Given the description of an element on the screen output the (x, y) to click on. 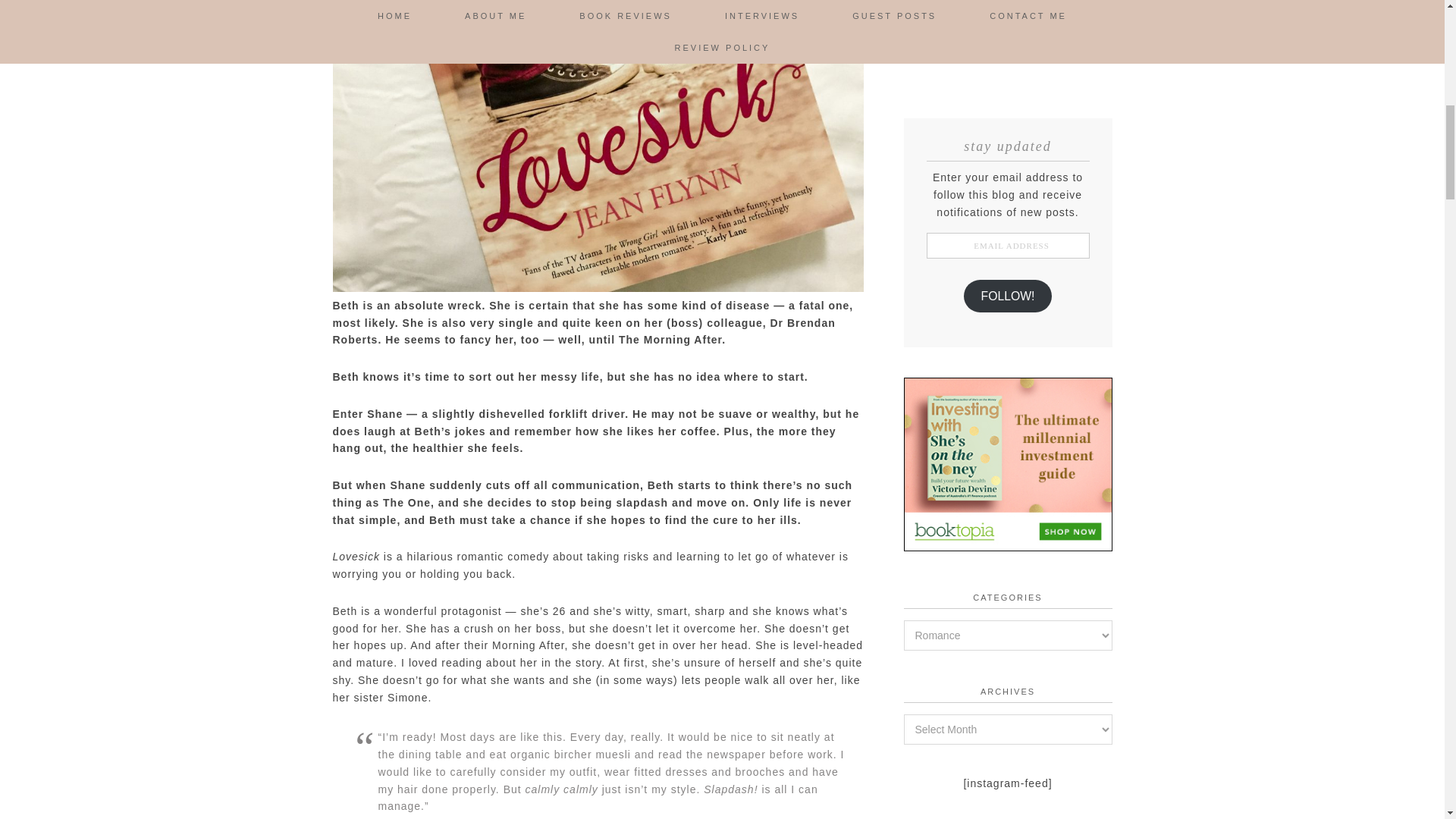
Follow Button (1008, 74)
Instagram (992, 39)
Twitter (971, 39)
